Given the description of an element on the screen output the (x, y) to click on. 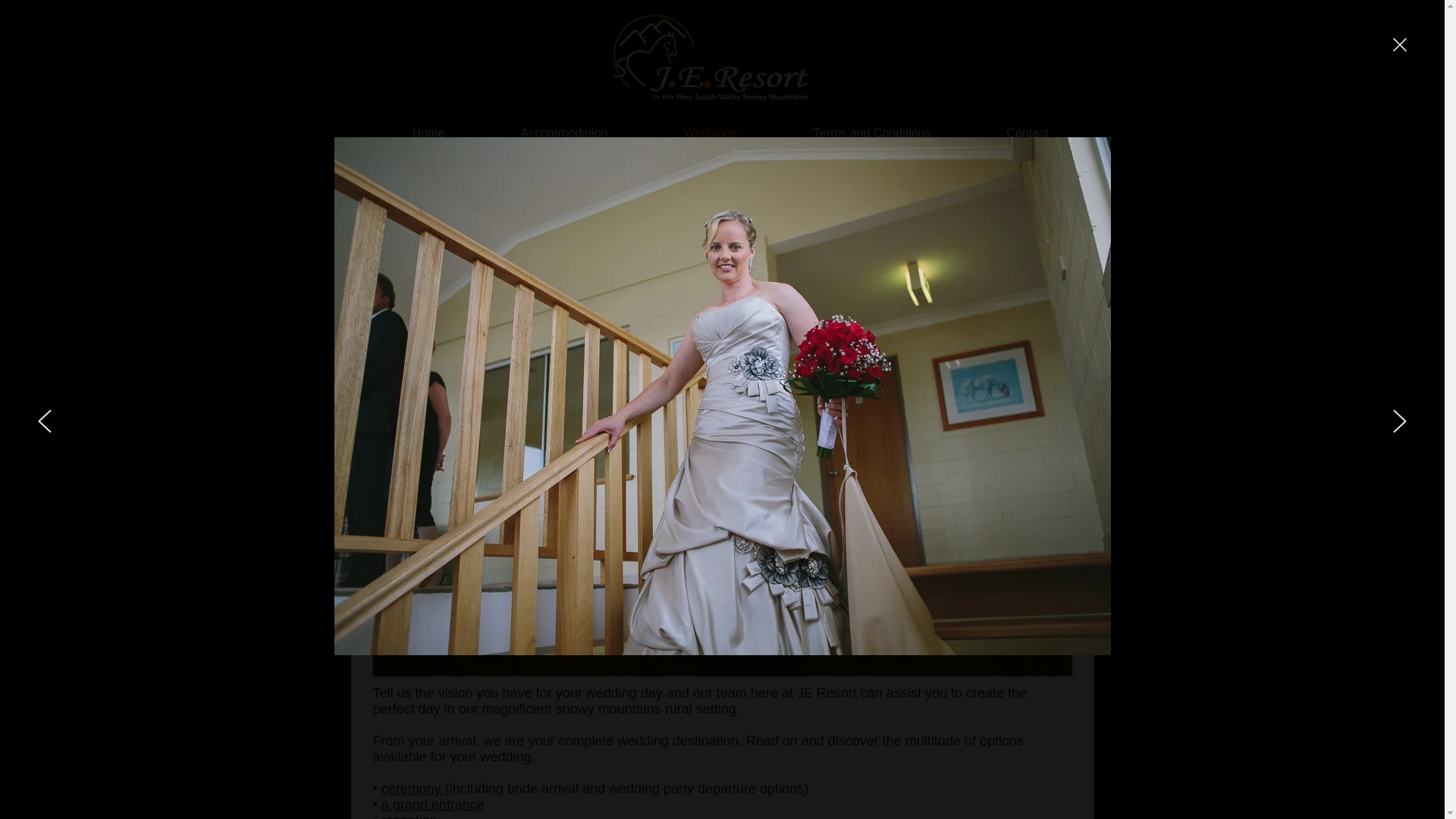
Contact Element type: text (1004, 132)
Download Flyer Element type: text (1005, 207)
Terms and Conditions Element type: text (848, 132)
a grand entrance Element type: text (432, 803)
Weddings Element type: text (688, 132)
ceremony Element type: text (413, 788)
Home Element type: text (404, 132)
Accommodation Element type: text (540, 132)
